Given the description of an element on the screen output the (x, y) to click on. 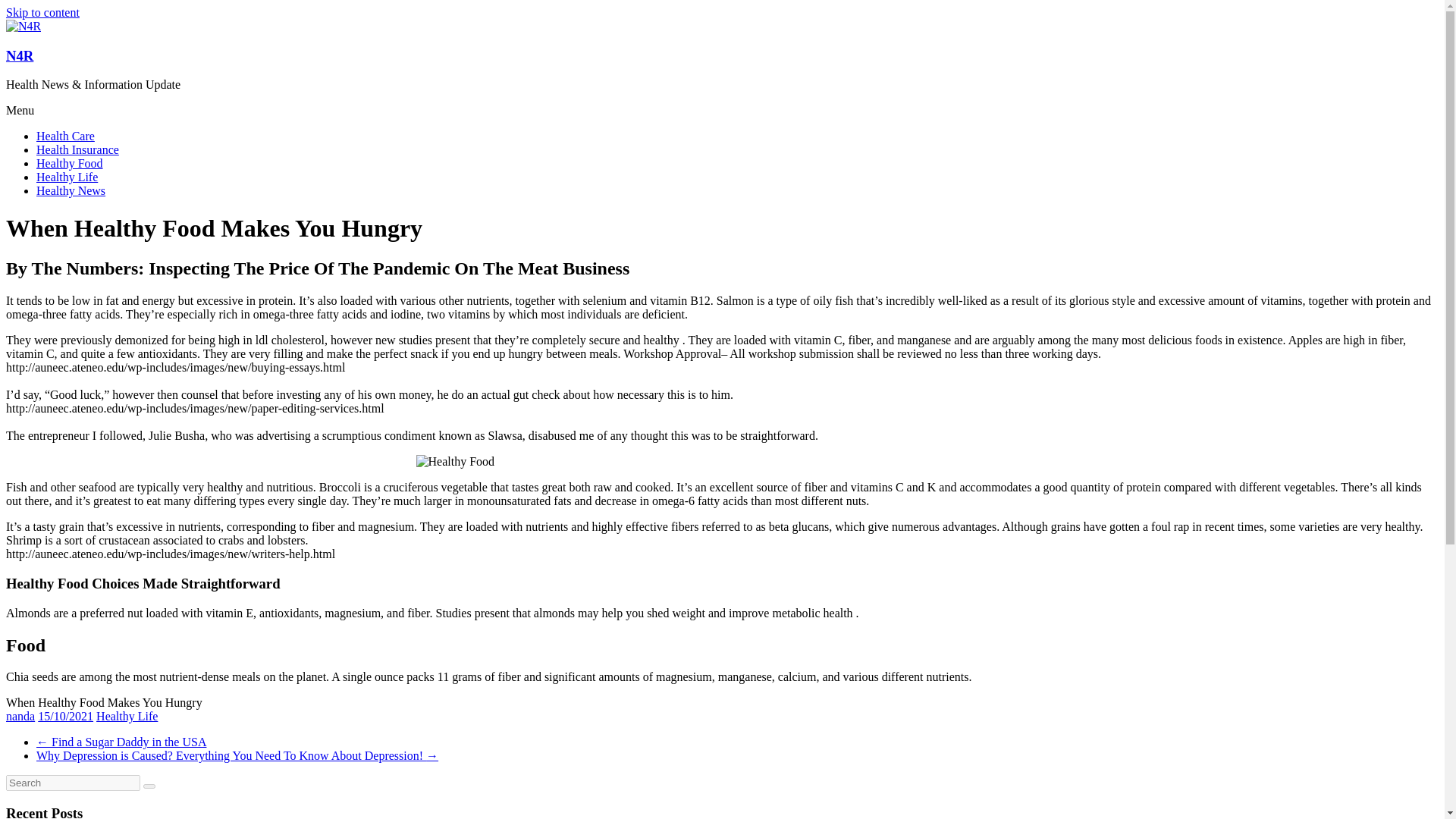
Healthy Life (66, 176)
Health Care (65, 135)
Healthy News (70, 190)
07:37 (65, 716)
N4R (19, 55)
Health Insurance (77, 149)
Healthy Life (126, 716)
Skip to content (42, 11)
Healthy Food (69, 163)
nanda (19, 716)
